Given the description of an element on the screen output the (x, y) to click on. 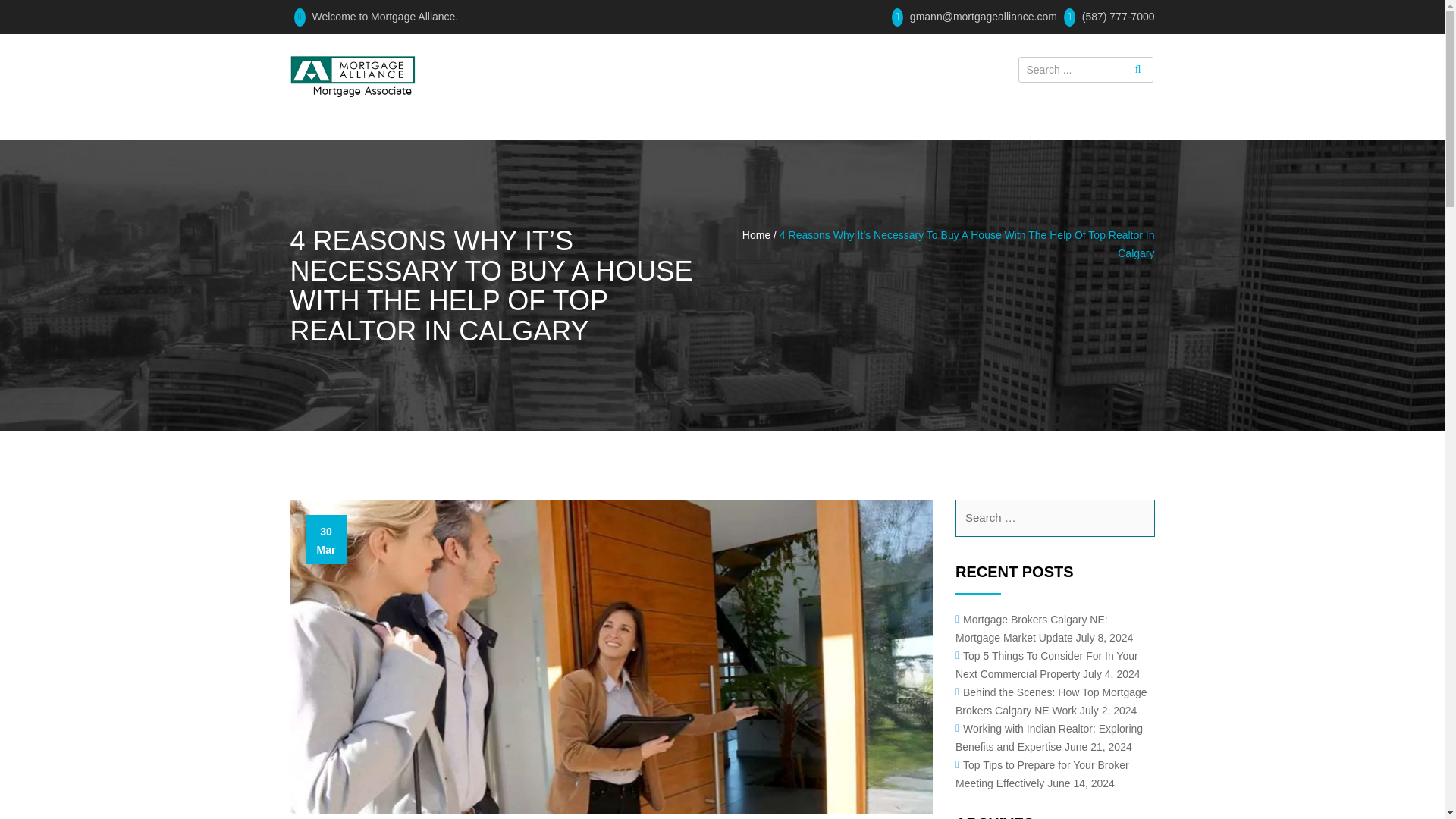
Solutions (793, 60)
About Us (544, 60)
Home (470, 60)
Blog (873, 60)
Mortgage Resources (665, 60)
Talk to Us (946, 60)
Search (1136, 517)
Search (1136, 517)
Contact Us (483, 113)
